Given the description of an element on the screen output the (x, y) to click on. 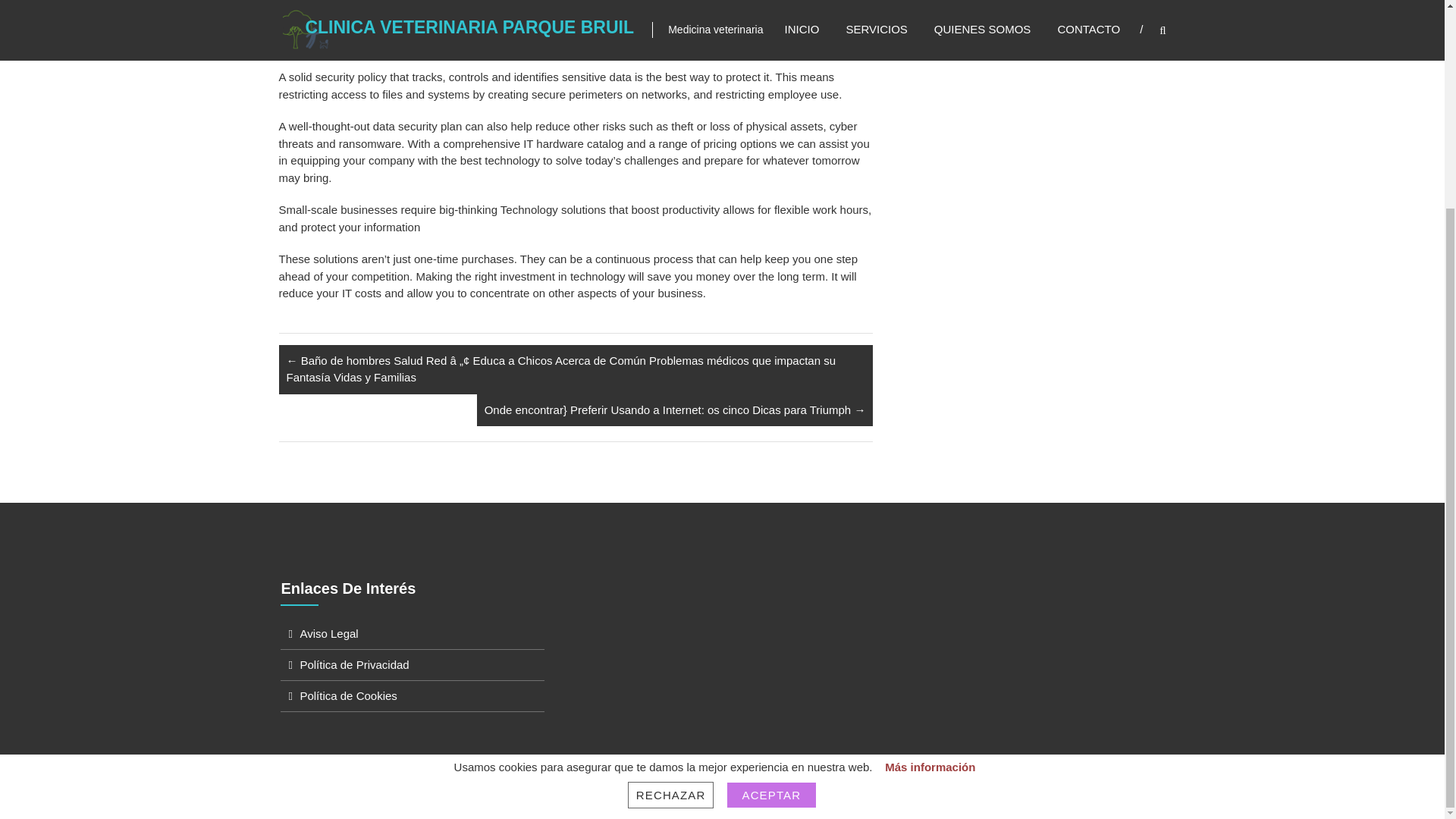
Aviso Legal (328, 633)
Himalayas (532, 801)
WordPress (700, 801)
Clinica Veterinaria Parque Bruil (414, 801)
RECHAZAR (670, 524)
Himalayas (532, 801)
ACEPTAR (771, 524)
Buscar (1232, 138)
WordPress (700, 801)
Clinica Veterinaria Parque Bruil (414, 801)
